Given the description of an element on the screen output the (x, y) to click on. 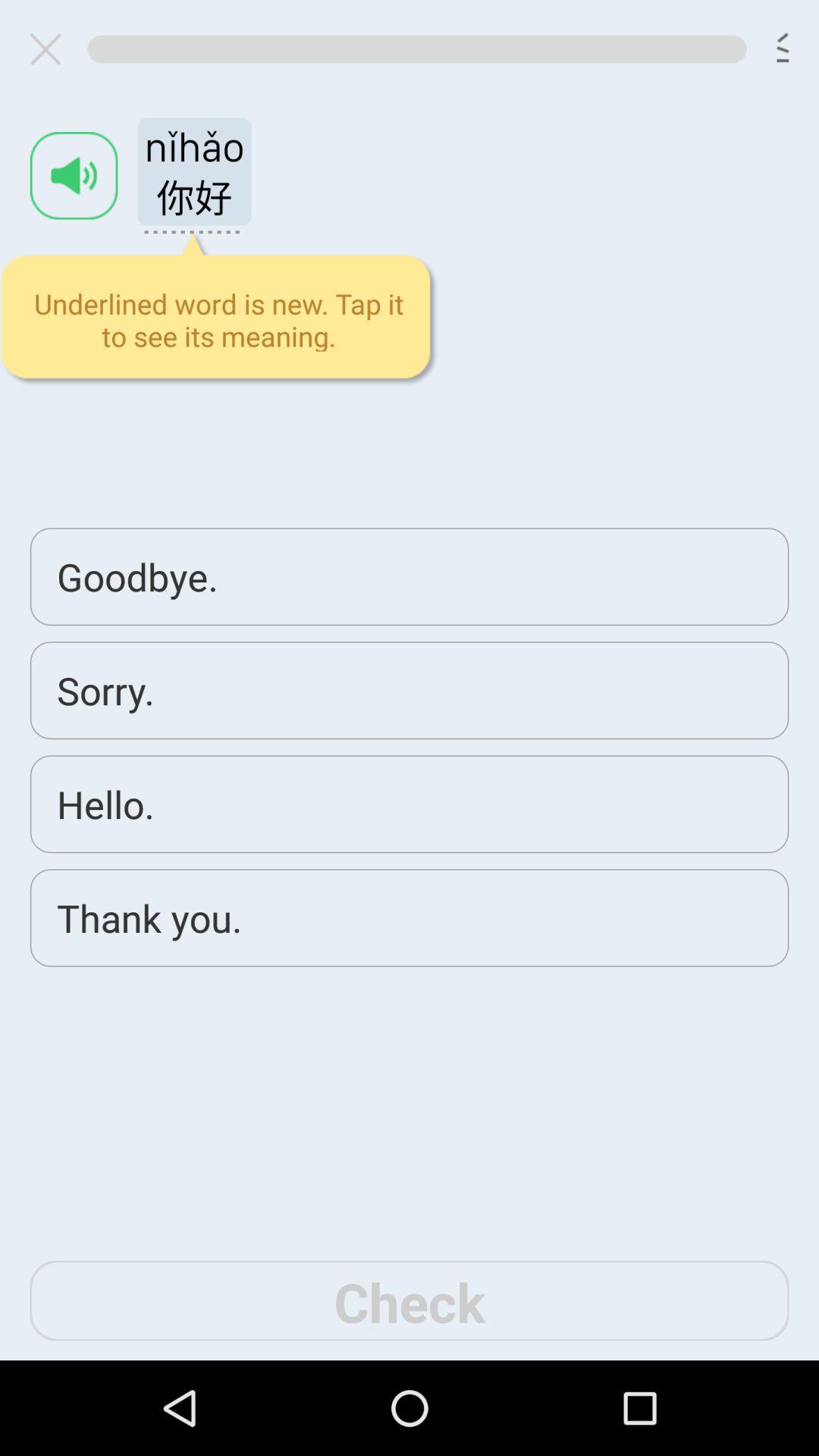
close the option (51, 49)
